Given the description of an element on the screen output the (x, y) to click on. 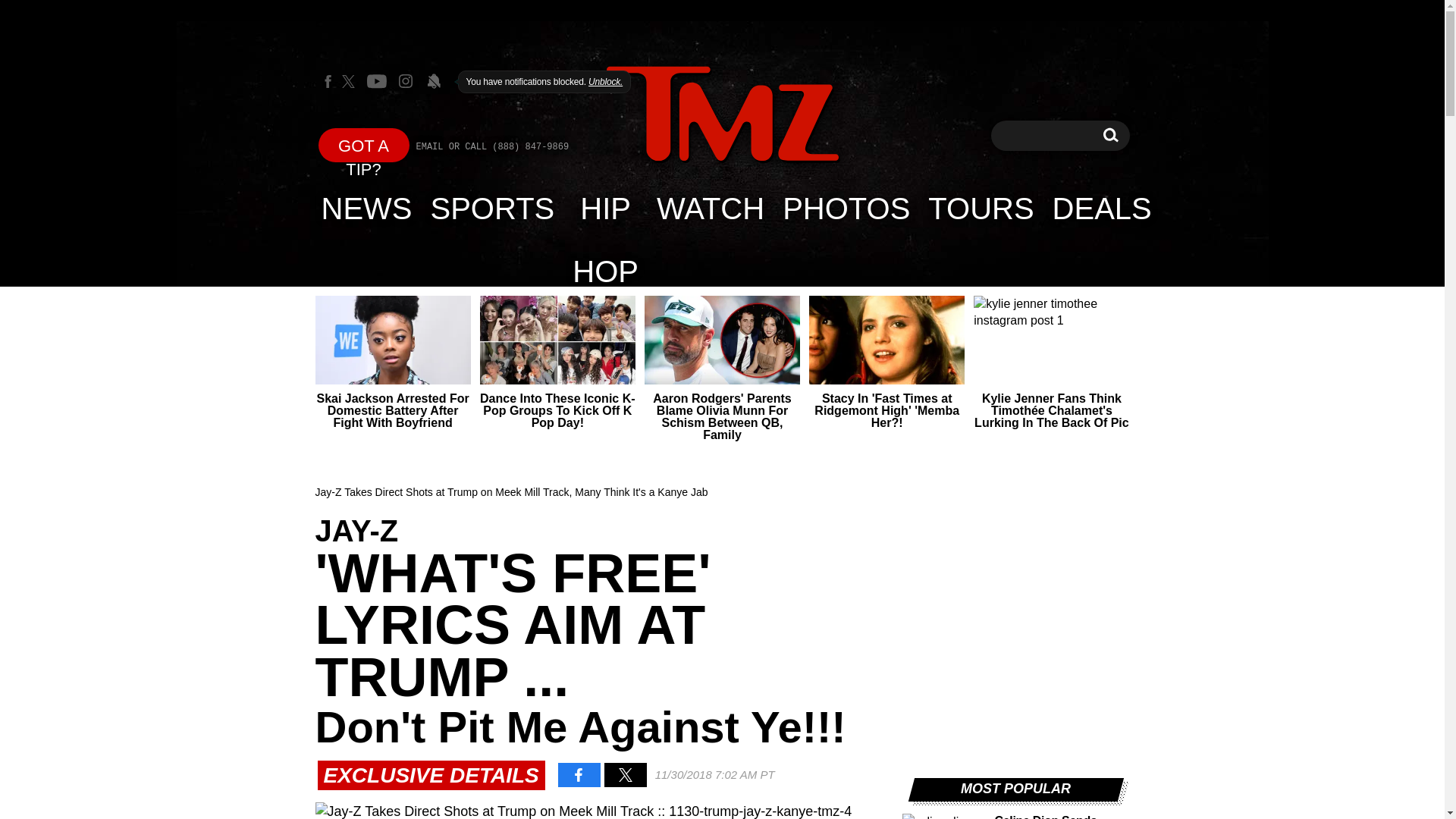
DEALS (1101, 207)
GOT A TIP? (363, 144)
WATCH (710, 207)
Search (1110, 135)
SPORTS (1110, 134)
TMZ (493, 207)
NEWS (722, 115)
TMZ (367, 207)
Skip to main content (722, 113)
